Given the description of an element on the screen output the (x, y) to click on. 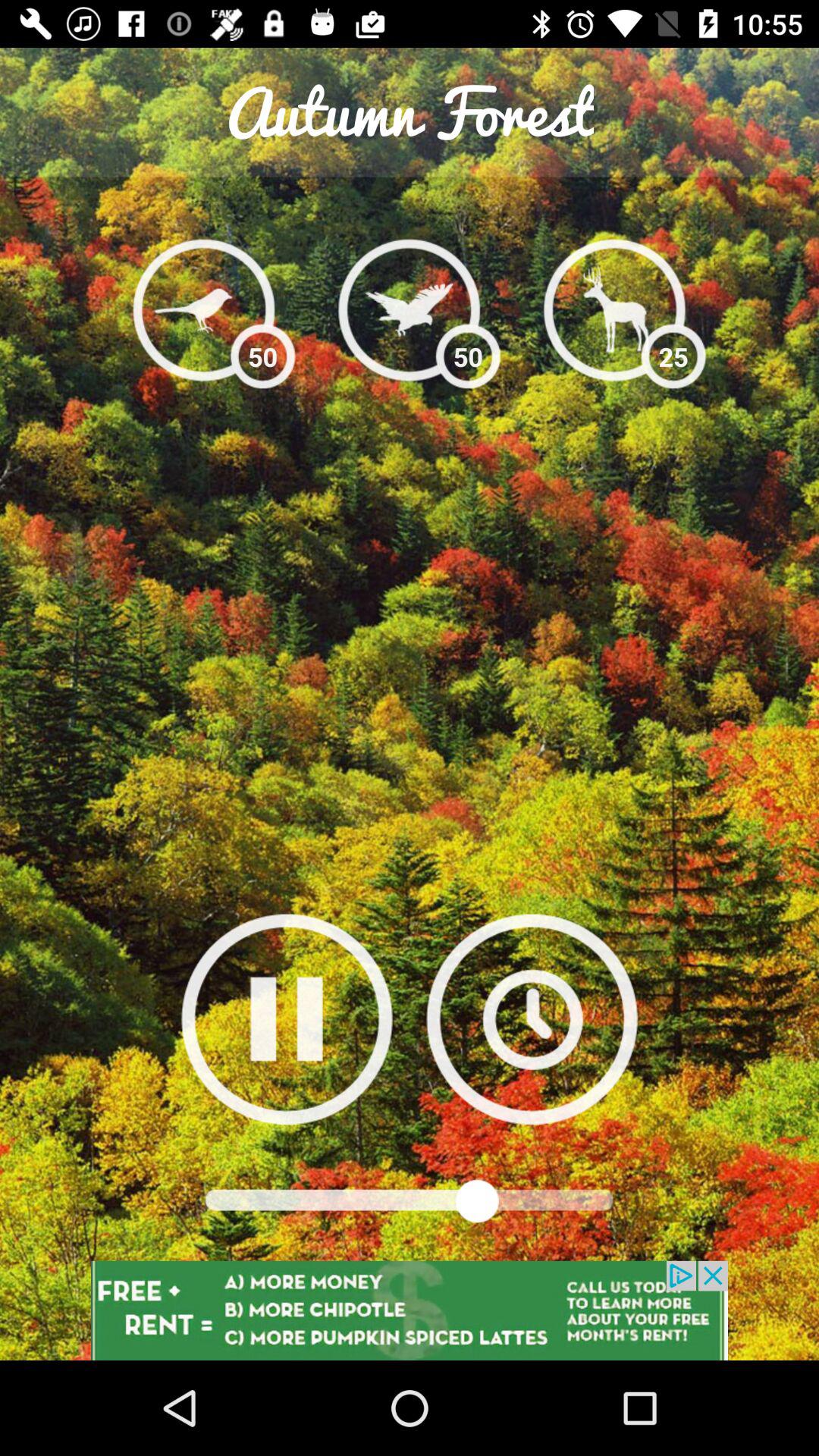
play option (286, 1018)
